Given the description of an element on the screen output the (x, y) to click on. 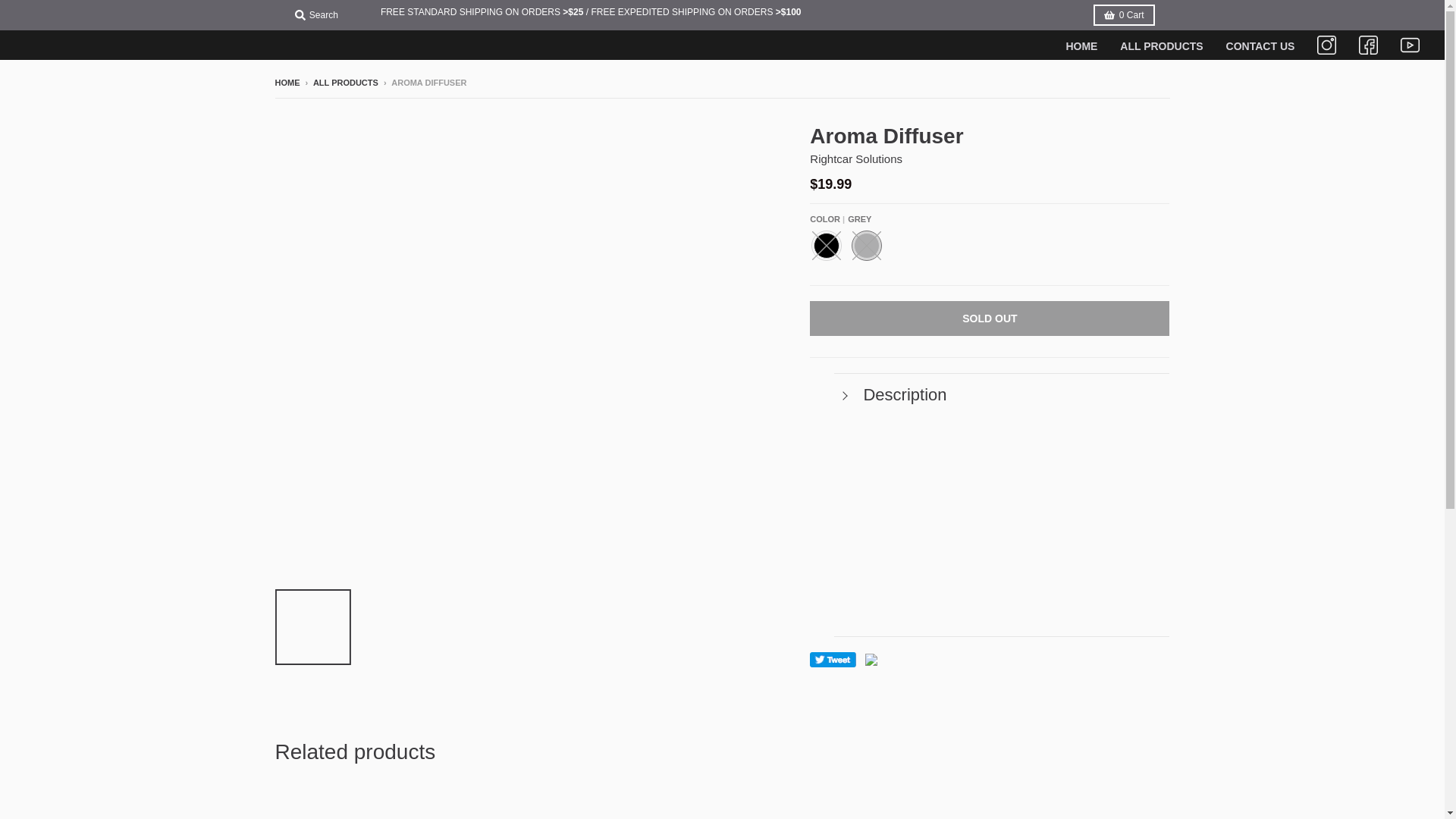
CONTACT US (1259, 45)
ALL PRODUCTS (1160, 45)
ALL PRODUCTS (345, 81)
HOME (1080, 45)
Grey (866, 245)
HOME (287, 81)
Rightcar Solutions (855, 158)
Black (825, 245)
0 Cart (1123, 14)
Back to the frontpage (287, 81)
Search (315, 14)
YouTube video player (1001, 510)
